Given the description of an element on the screen output the (x, y) to click on. 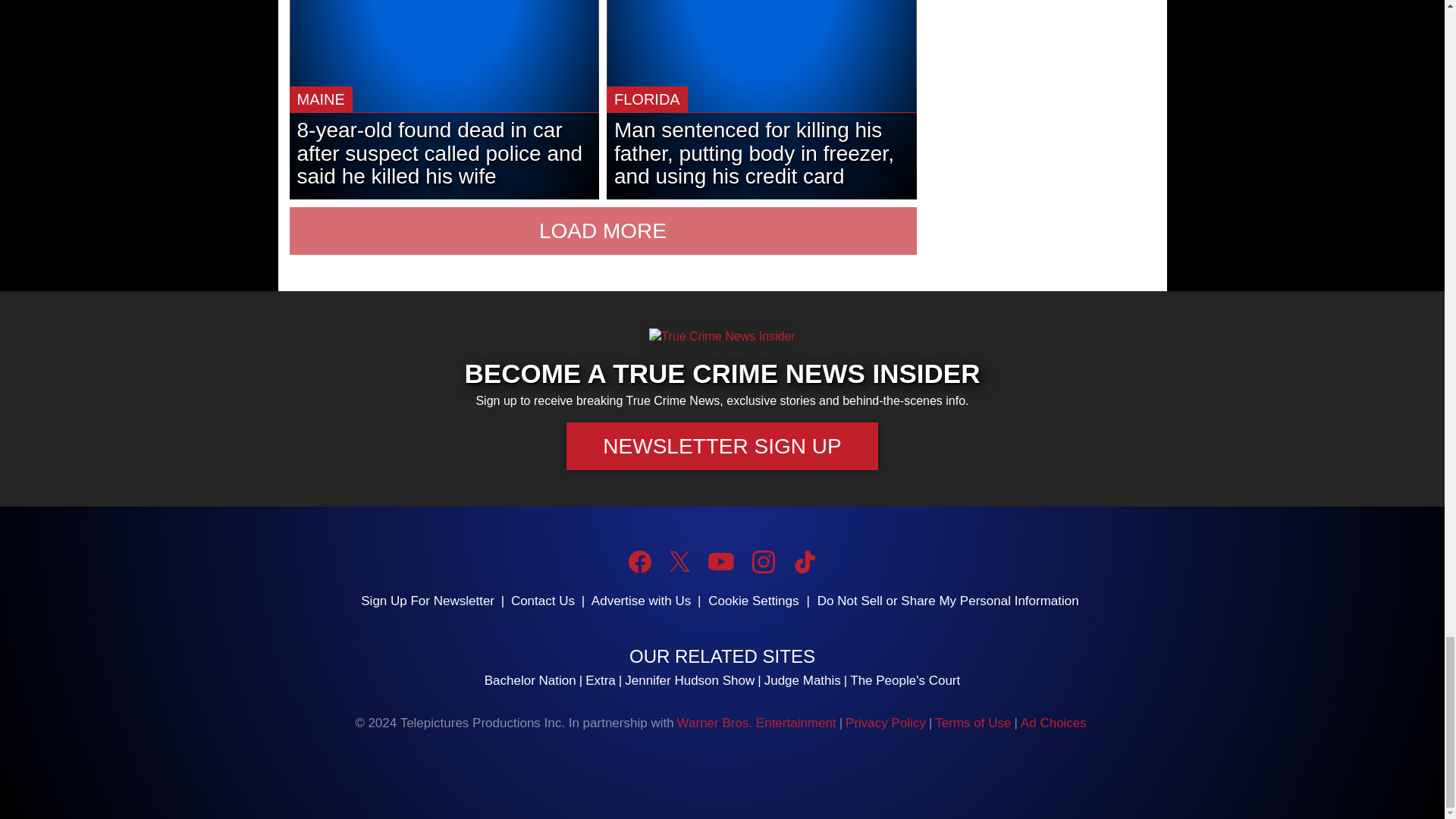
Twitter (679, 561)
YouTube (720, 561)
Instagram (763, 561)
Facebook (639, 561)
TikTok (804, 561)
